Given the description of an element on the screen output the (x, y) to click on. 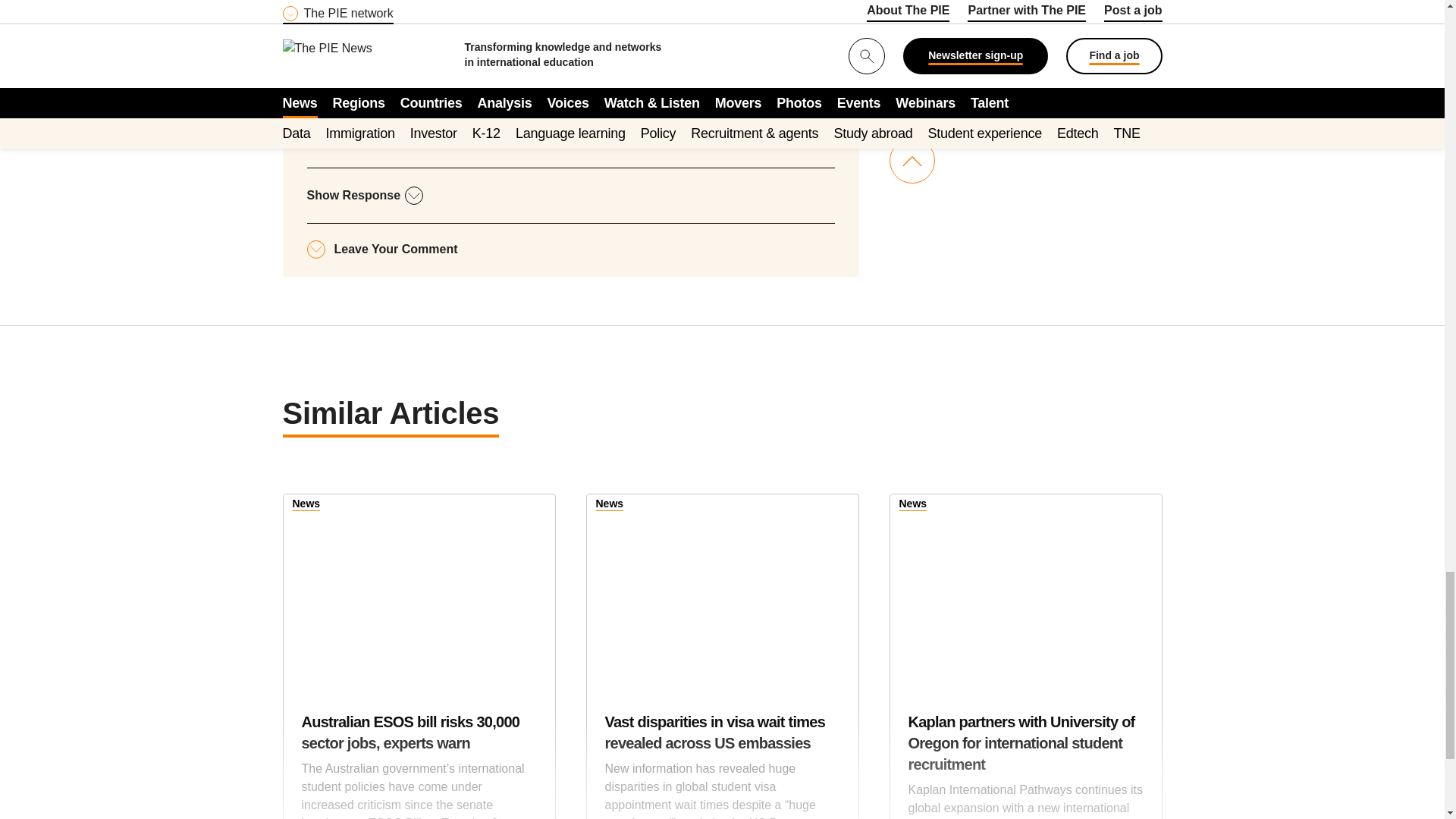
View all News articles (912, 505)
Australian ESOS bill risks 30,000 sector jobs, experts warn (418, 588)
View all News articles (609, 505)
Australian ESOS bill risks 30,000 sector jobs, experts warn (419, 765)
View all News articles (306, 505)
